Given the description of an element on the screen output the (x, y) to click on. 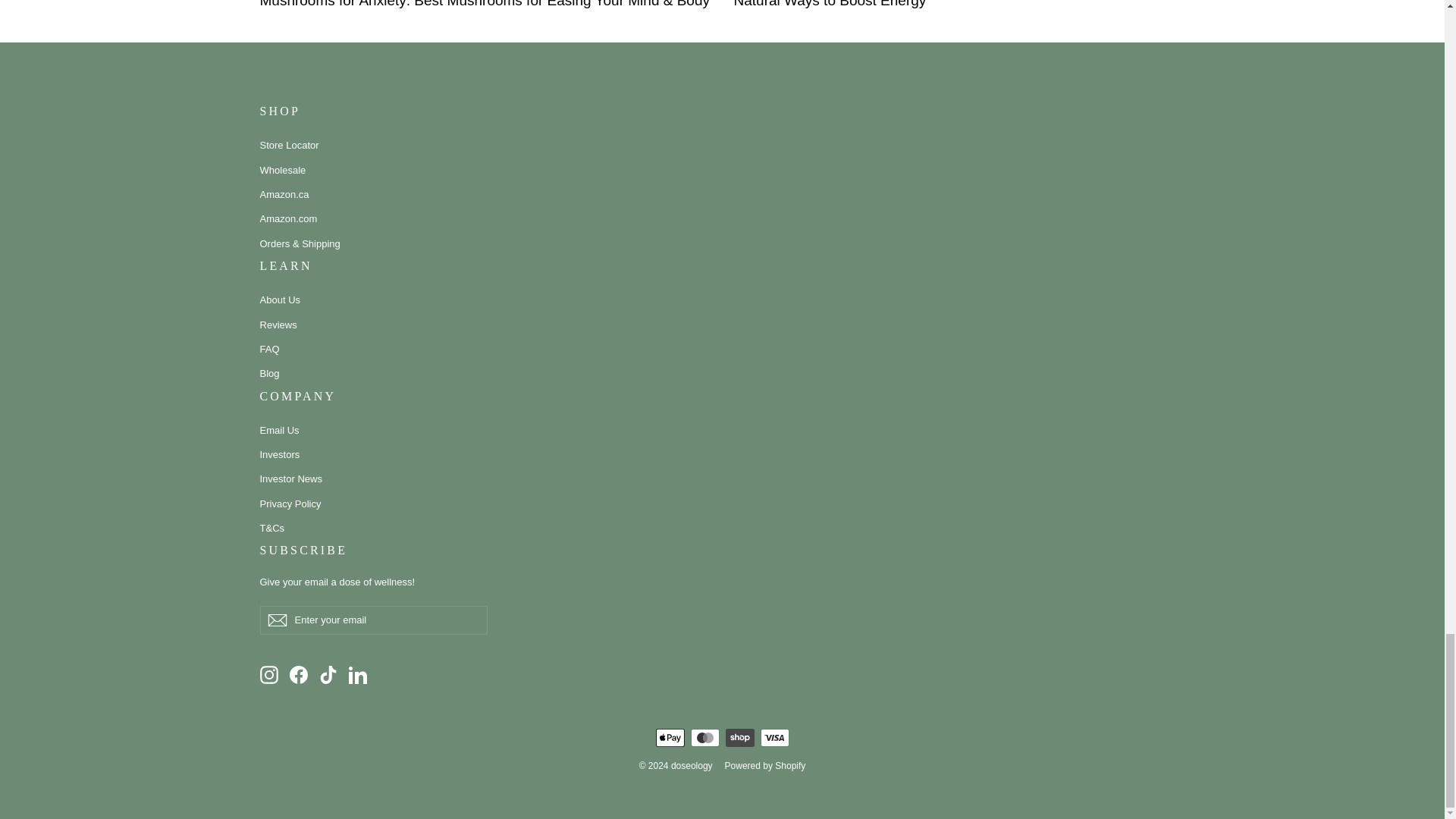
icon-email (276, 619)
doseology on LinkedIn (357, 674)
doseology on TikTok (327, 674)
doseology on Facebook (298, 674)
instagram (268, 674)
Mastercard (704, 737)
Visa (774, 737)
Shop Pay (739, 737)
doseology on Instagram (268, 674)
Apple Pay (669, 737)
